Given the description of an element on the screen output the (x, y) to click on. 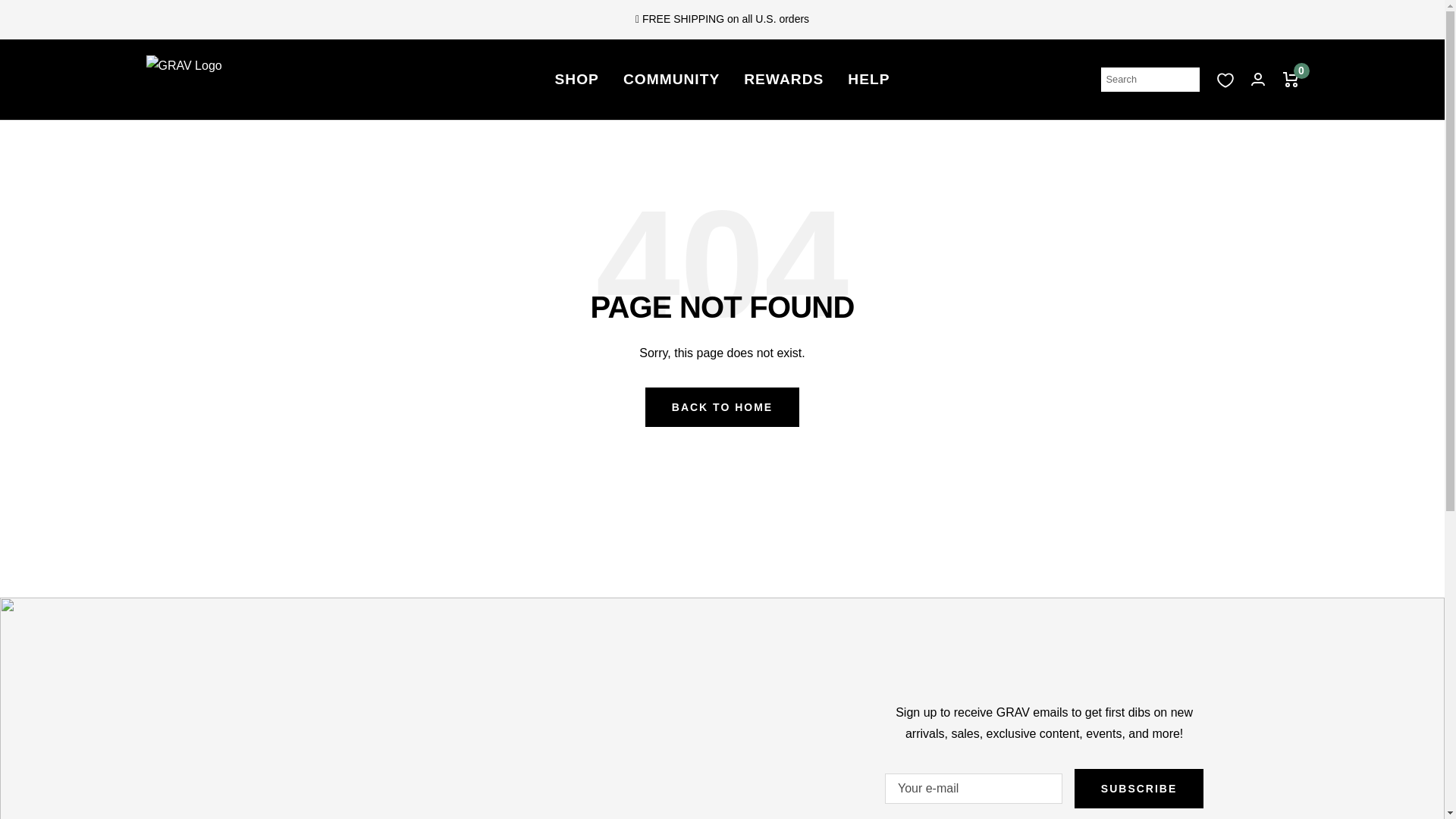
0 (1290, 79)
HELP (868, 78)
COMMUNITY (671, 78)
REWARDS (784, 78)
SHOP (576, 78)
Search (1149, 79)
